Given the description of an element on the screen output the (x, y) to click on. 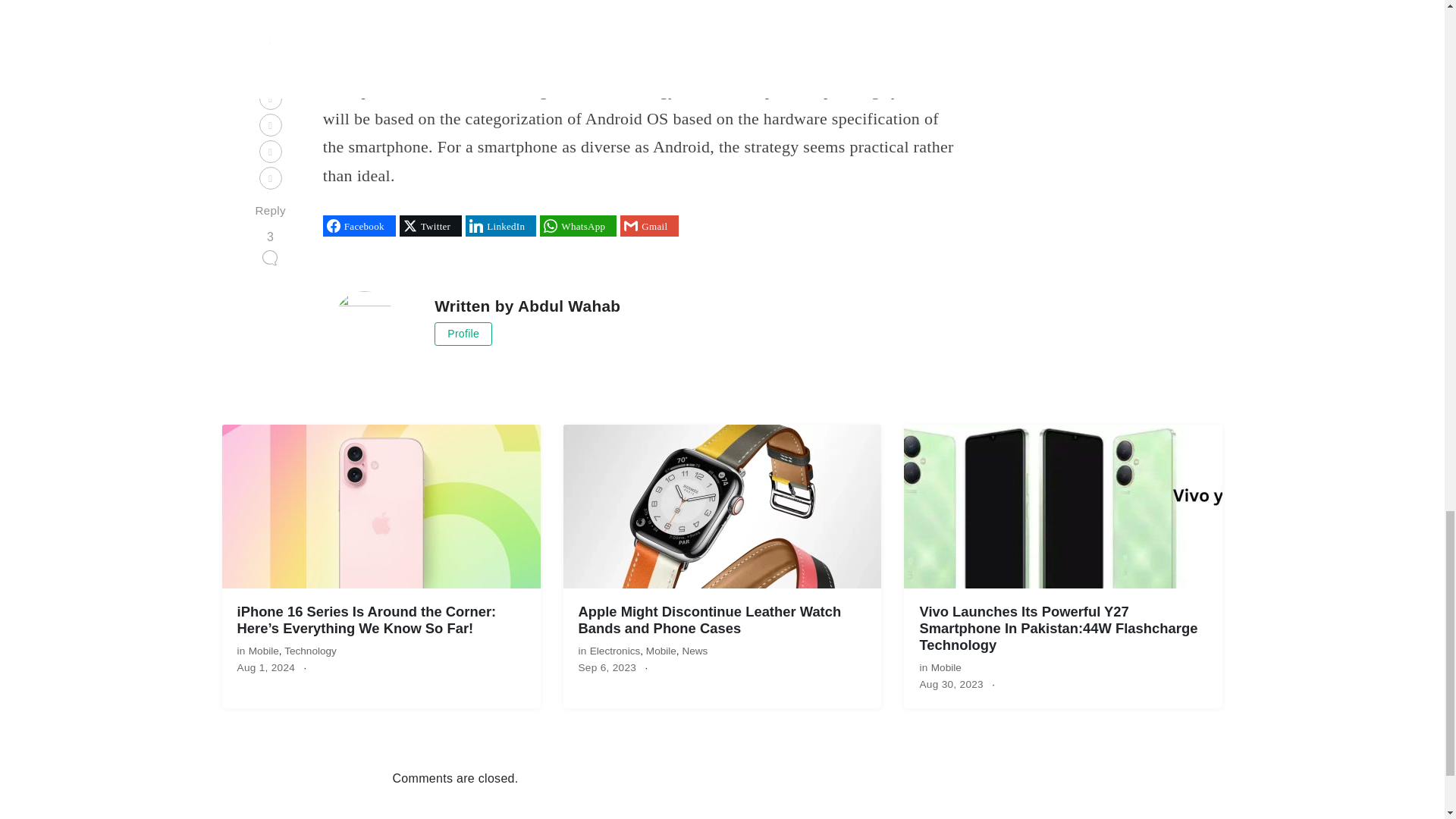
Share on Gmail (649, 225)
Share on Twitter (429, 225)
Share on Facebook (359, 225)
Share on WhatsApp (577, 225)
Share on LinkedIn (500, 225)
